Given the description of an element on the screen output the (x, y) to click on. 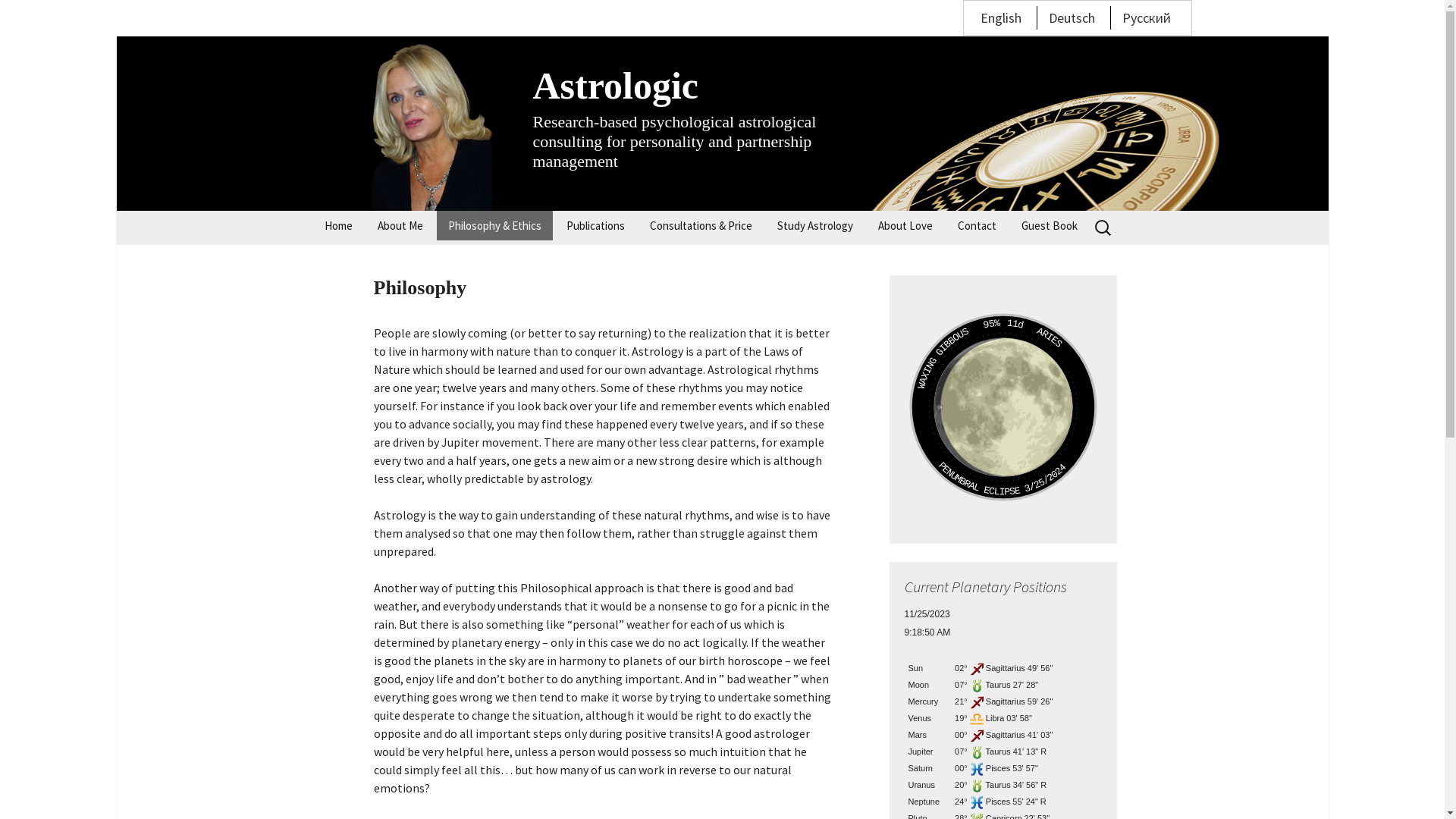
Philosophy & Ethics Element type: text (494, 225)
Contact Element type: text (976, 225)
Search Element type: text (18, 16)
English Element type: text (1000, 17)
Skip to content Element type: text (312, 210)
Search Element type: text (34, 15)
Guest Book Element type: text (1049, 225)
About Me Element type: text (399, 225)
Consultations & Price Element type: text (700, 225)
Study Astrology Element type: text (814, 225)
Deutsch Element type: text (1070, 17)
Home Element type: text (337, 225)
Publications Element type: text (595, 225)
About Love Element type: text (904, 225)
